Given the description of an element on the screen output the (x, y) to click on. 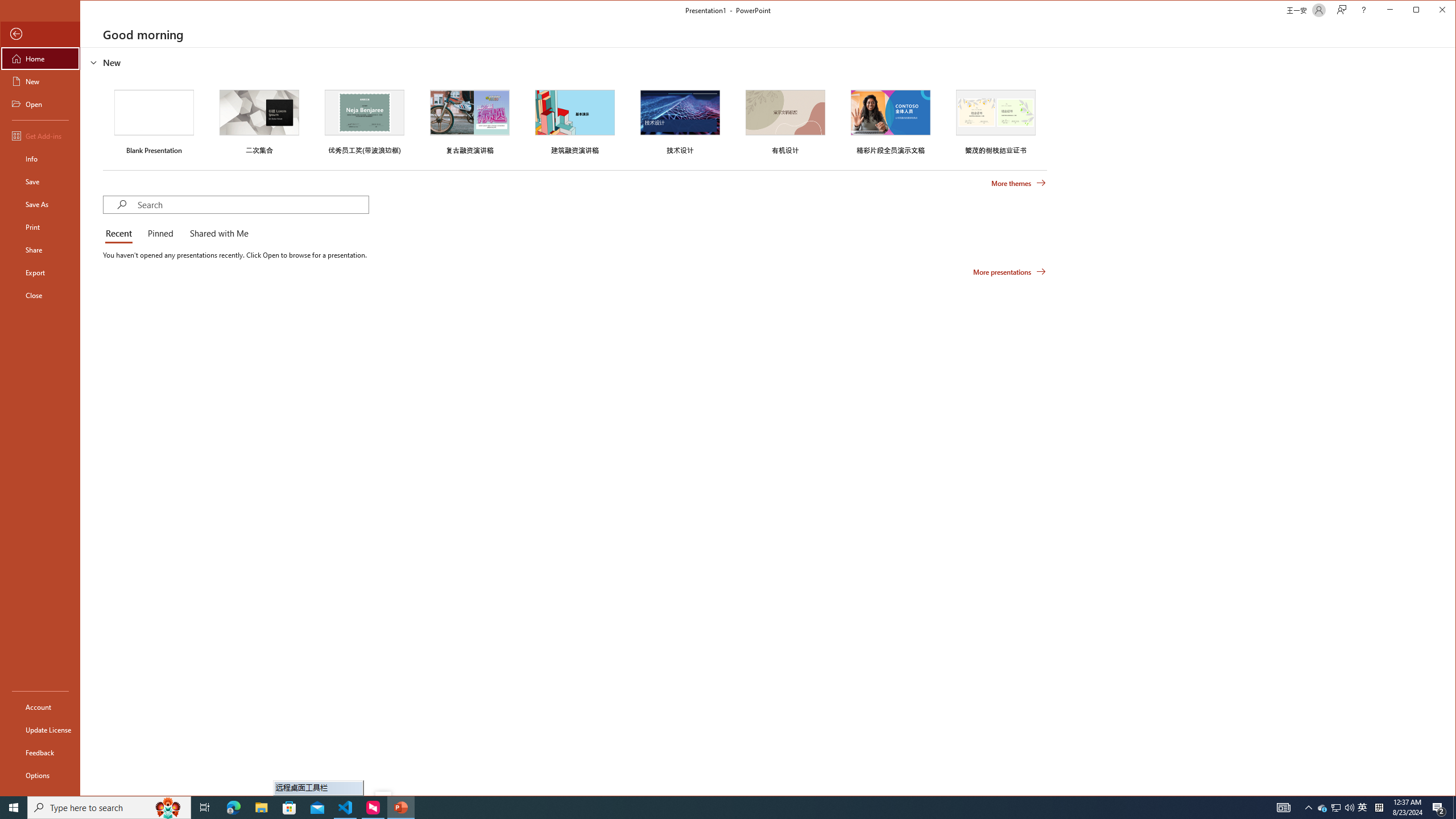
Class: NetUIScrollBar (1450, 421)
Info (40, 158)
Blank Presentation (154, 119)
Recent (121, 234)
Back (40, 34)
New (40, 80)
More presentations (1009, 271)
